Given the description of an element on the screen output the (x, y) to click on. 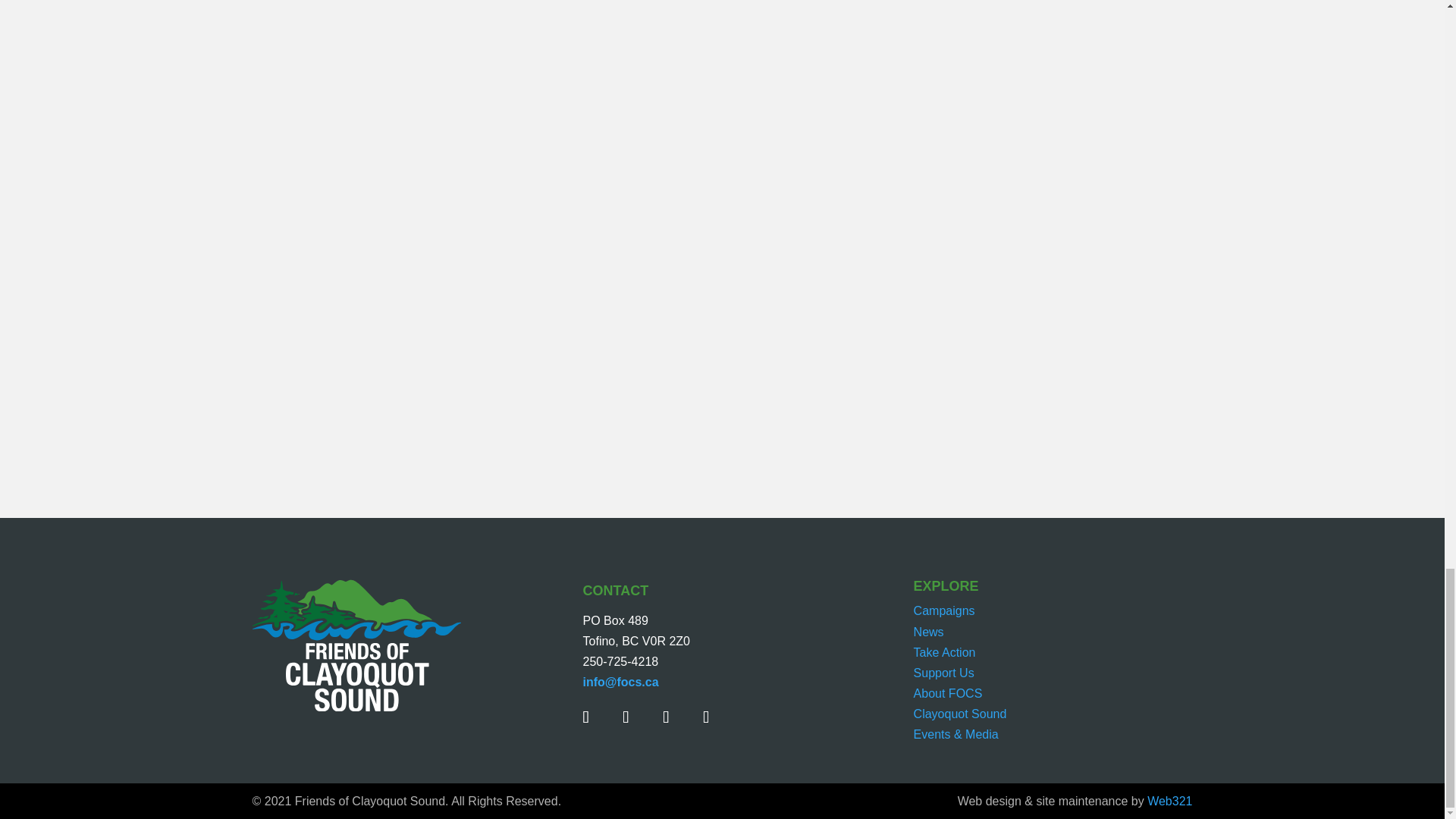
Follow on Instagram (679, 717)
Follow on X (639, 717)
Follow on Facebook (600, 717)
Logo (356, 645)
